Given the description of an element on the screen output the (x, y) to click on. 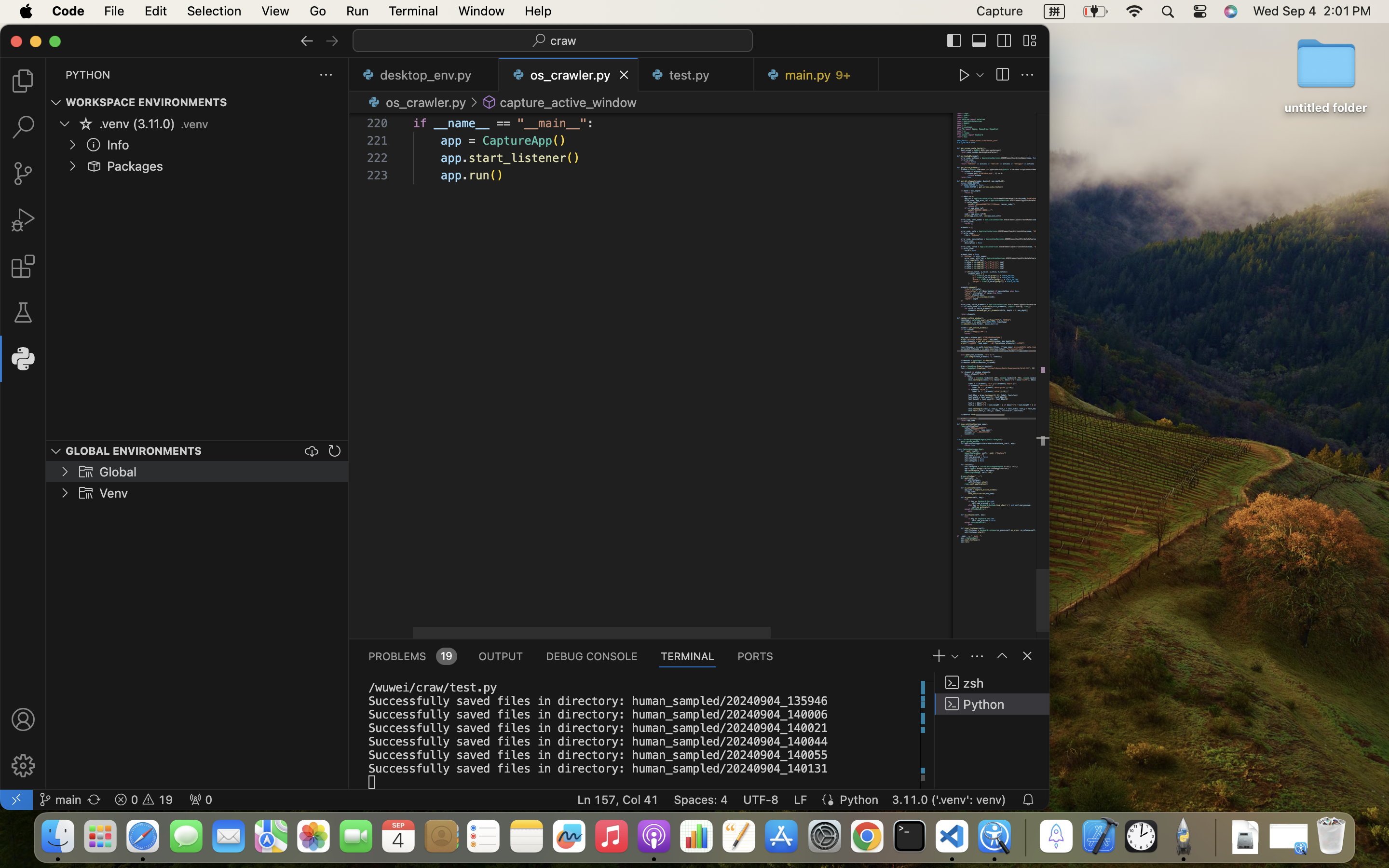
 Element type: AXStaticText (85, 123)
1 TERMINAL Element type: AXRadioButton (687, 655)
0  Element type: AXRadioButton (23, 266)
 Element type: AXStaticText (1026, 74)
